Given the description of an element on the screen output the (x, y) to click on. 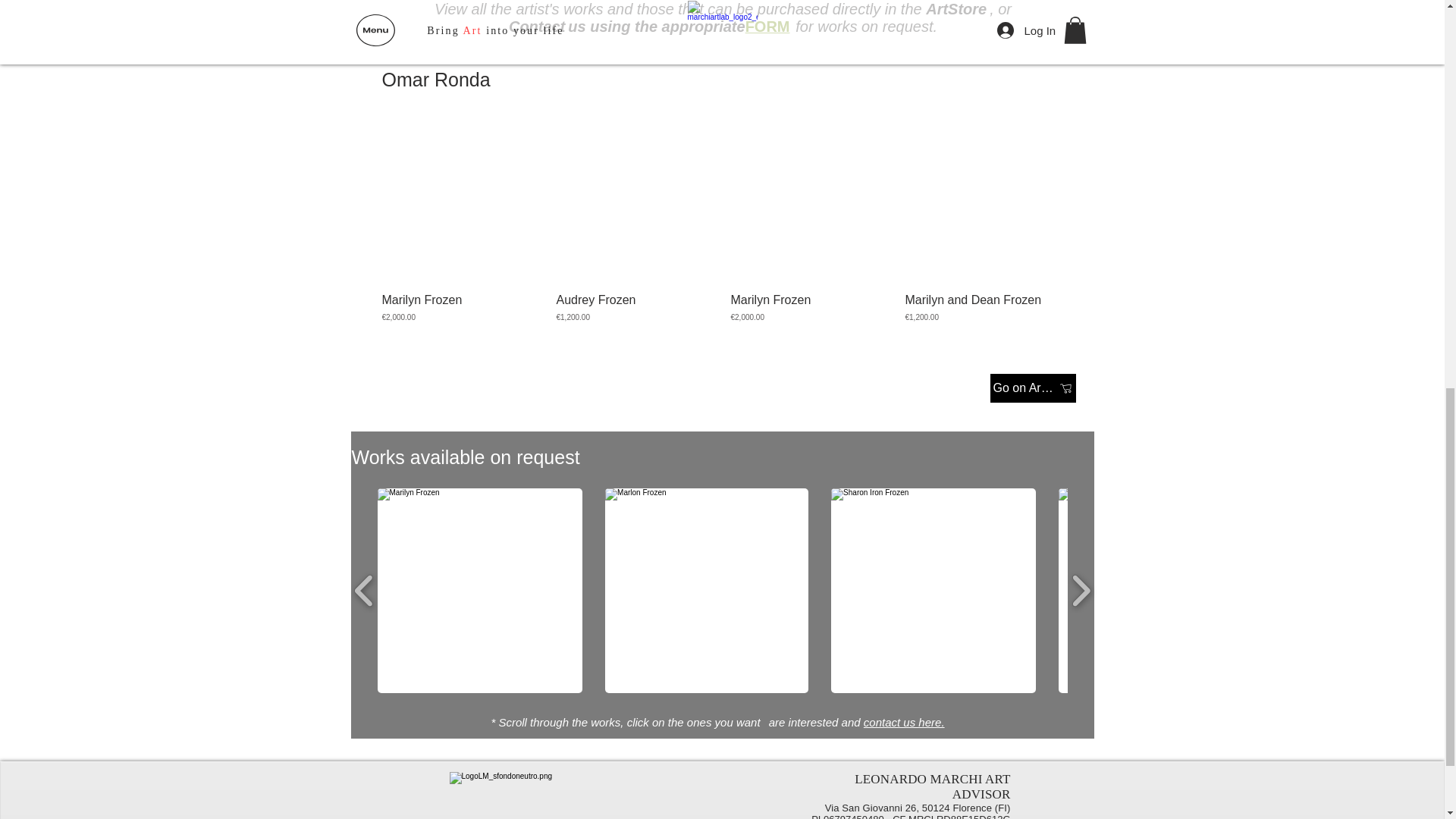
Go on ArtStore (1032, 388)
FORM (767, 28)
contact us here. (903, 721)
